Given the description of an element on the screen output the (x, y) to click on. 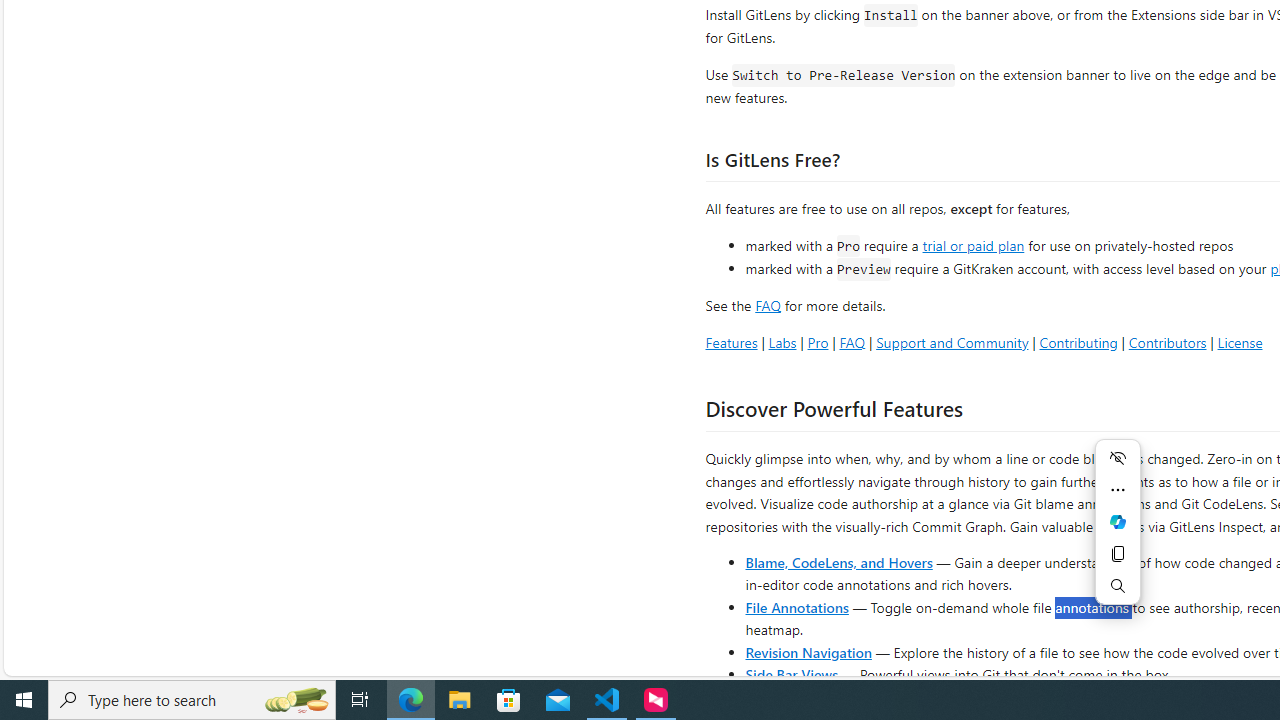
Mini menu on text selection (1117, 534)
Hide menu (1117, 457)
Revision Navigation (807, 651)
File Annotations (796, 606)
FAQ (852, 341)
Ask Copilot (1117, 521)
Copy (1117, 553)
trial or paid plan (973, 244)
Support and Community (952, 341)
Mini menu on text selection (1117, 521)
License (1240, 341)
Side Bar Views (791, 673)
Features (731, 341)
Labs (782, 341)
